Given the description of an element on the screen output the (x, y) to click on. 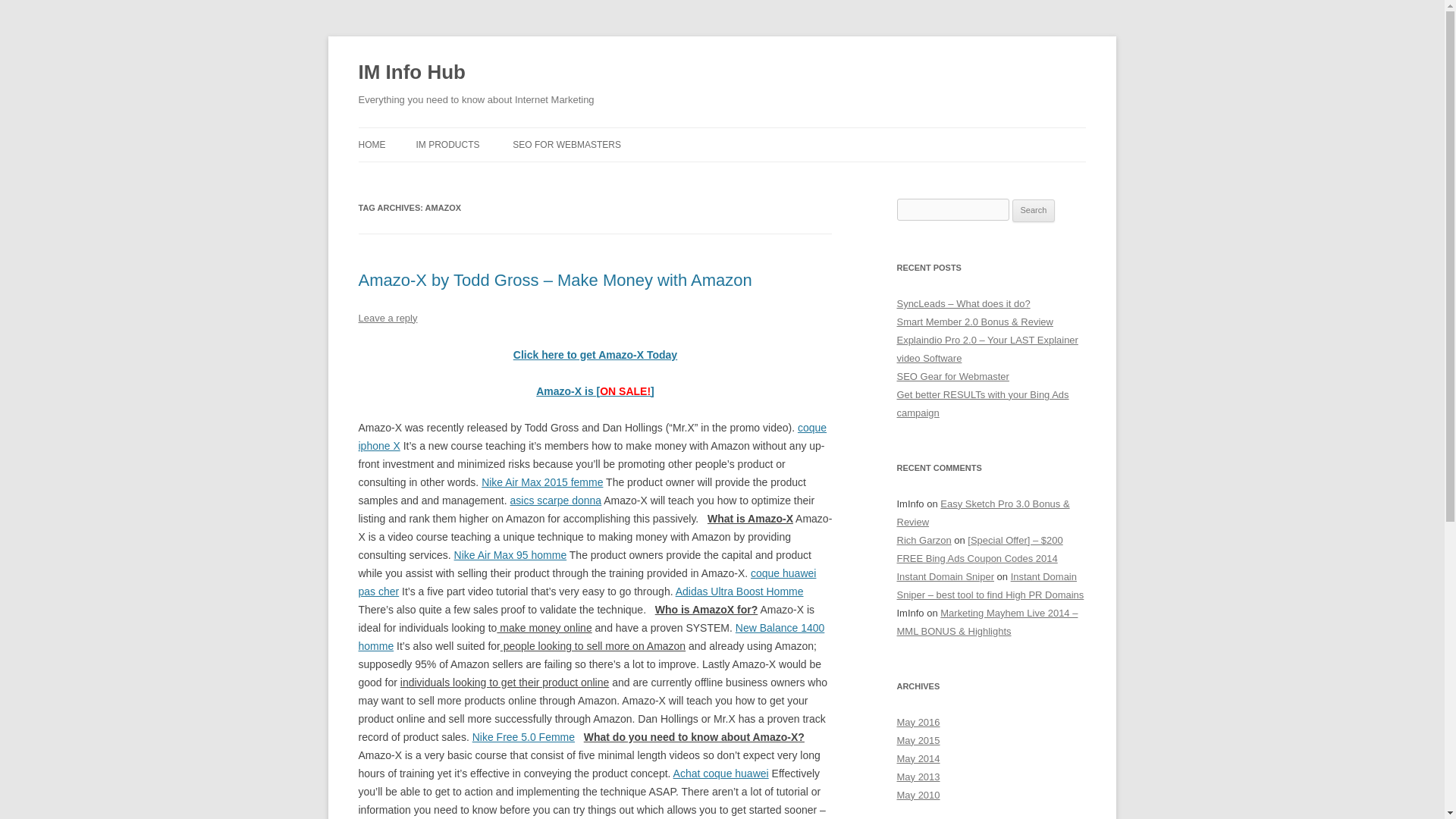
SEO FOR WEBMASTERS (566, 144)
New Balance 1400 homme (591, 636)
IM PRODUCTS (446, 144)
IM Info Hub (411, 72)
coque iphone X (592, 436)
Achat coque huawei (720, 773)
Search (1033, 210)
IM Info Hub (411, 72)
